Given the description of an element on the screen output the (x, y) to click on. 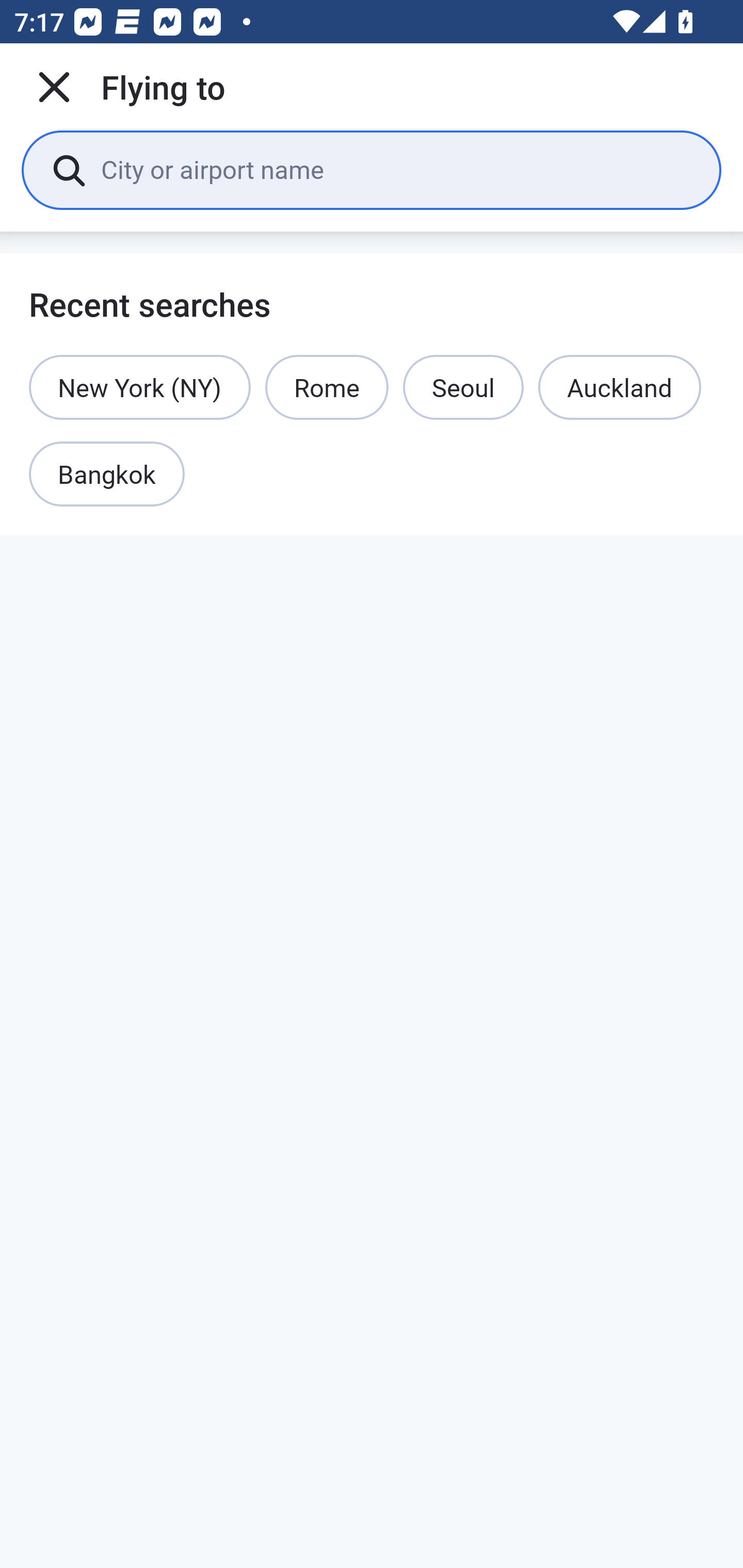
City or airport name (396, 169)
New York (NY) (139, 387)
Rome (326, 387)
Seoul (462, 387)
Auckland (619, 387)
Bangkok (106, 474)
